Given the description of an element on the screen output the (x, y) to click on. 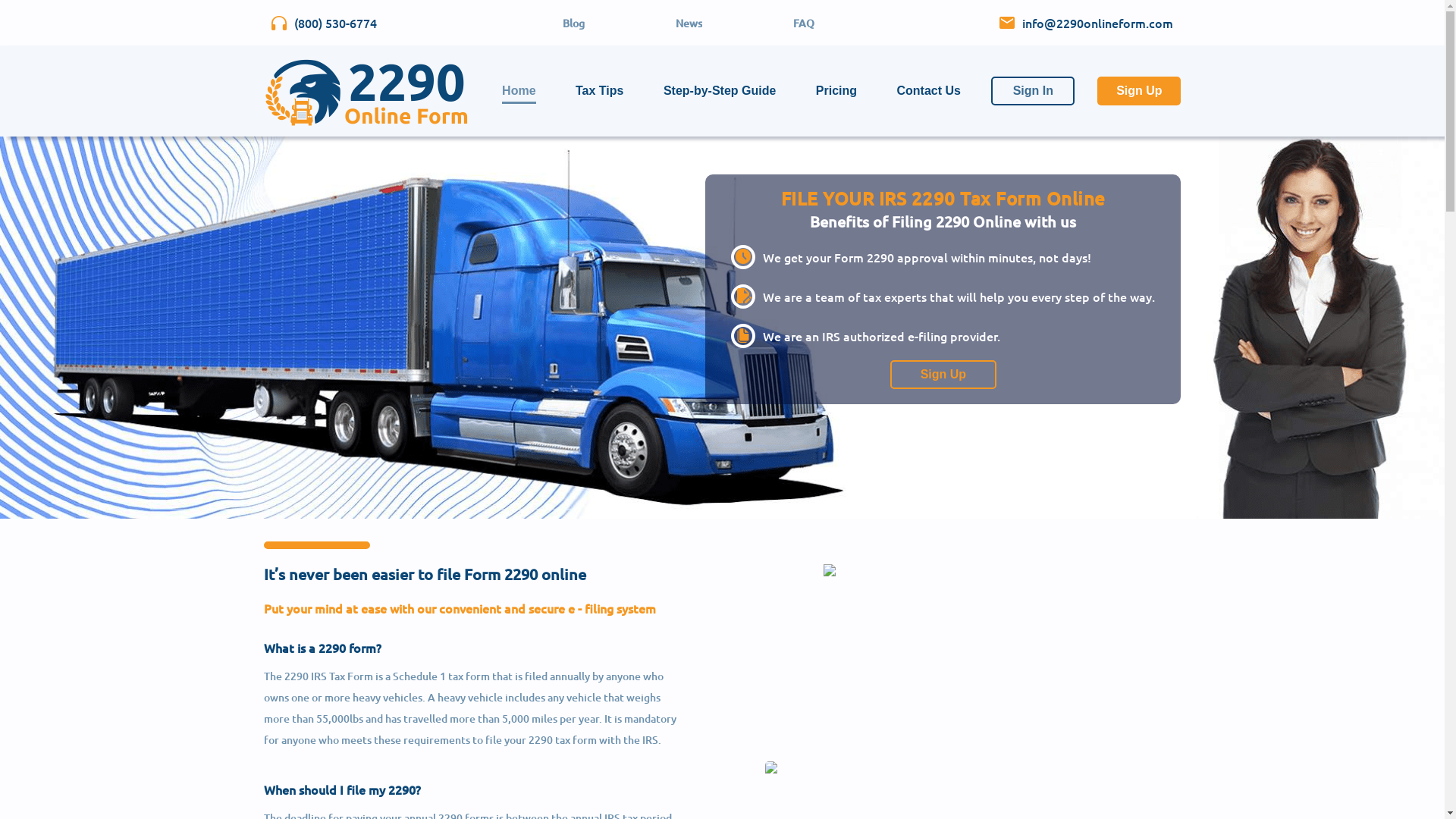
info@2290onlineform.com Element type: text (1085, 22)
Tax Tips Element type: text (599, 90)
FAQ Element type: text (803, 23)
Sign Up Element type: text (943, 374)
Pricing Element type: text (835, 90)
(800) 530-6774 Element type: text (323, 22)
Home Element type: text (518, 90)
Contact Us Element type: text (928, 90)
News Element type: text (687, 23)
Blog Element type: text (573, 23)
Step-by-Step Guide Element type: text (719, 90)
Sign In Element type: text (1032, 90)
Sign Up Element type: text (1138, 90)
Sign Up Element type: text (942, 368)
